Given the description of an element on the screen output the (x, y) to click on. 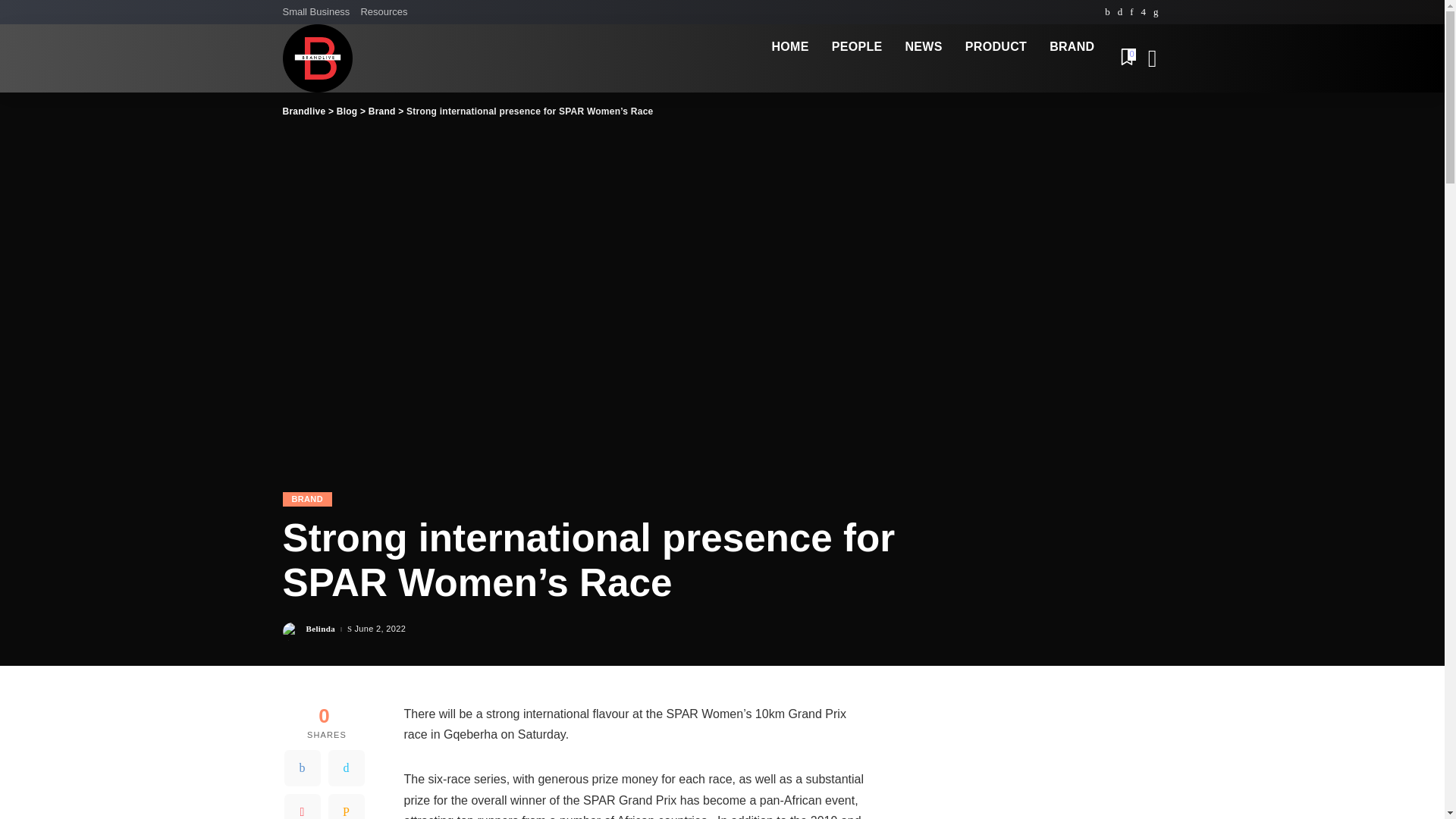
Resources (383, 11)
Small Business (318, 11)
HOME (789, 46)
PEOPLE (857, 46)
